Given the description of an element on the screen output the (x, y) to click on. 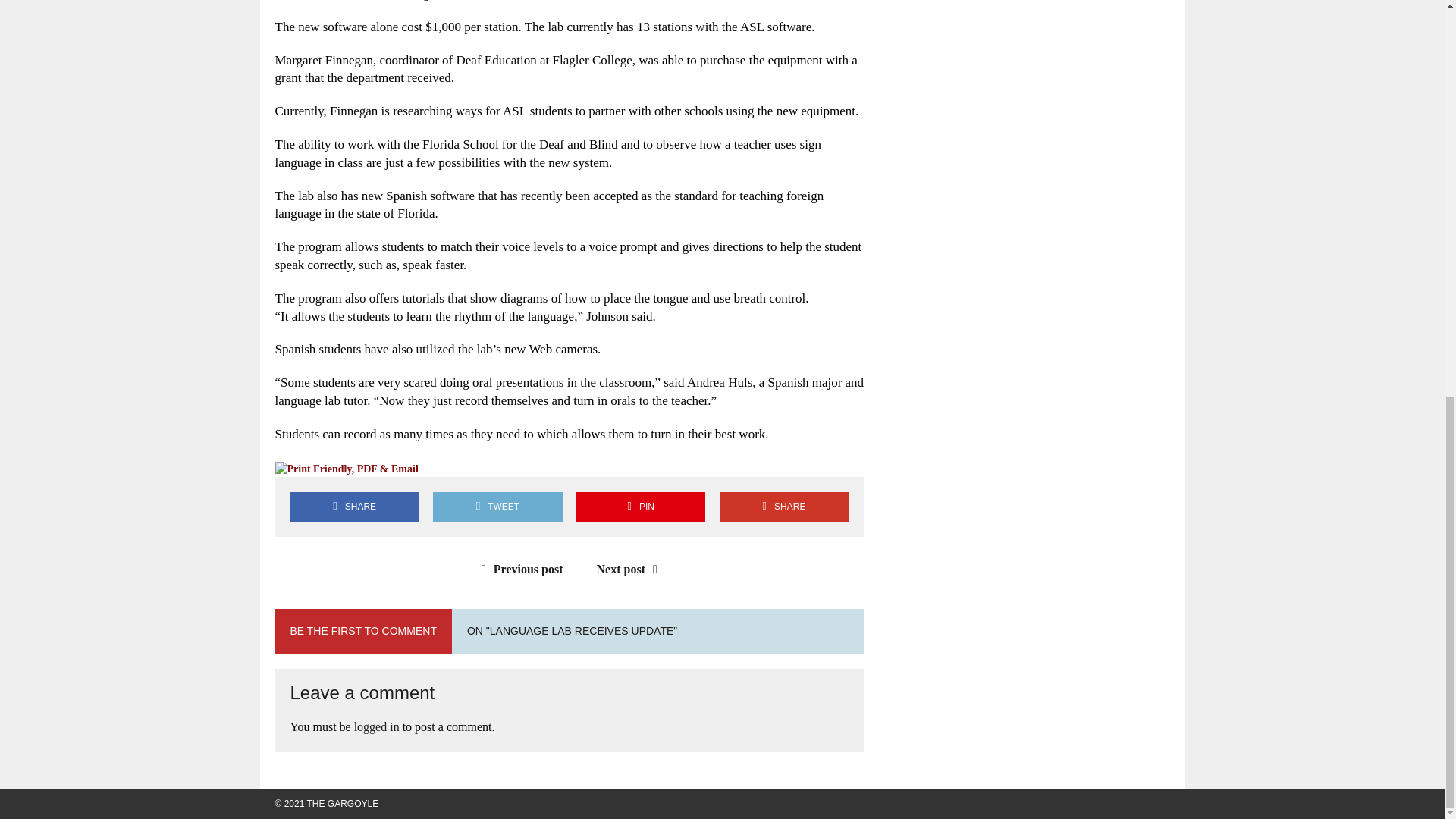
Tweet This Post (497, 506)
Previous post (518, 568)
SHARE (783, 506)
logged in (375, 726)
PIN (640, 506)
Share on Facebook (354, 506)
Next post (630, 568)
SHARE (354, 506)
TWEET (497, 506)
Pin This Post (640, 506)
